Given the description of an element on the screen output the (x, y) to click on. 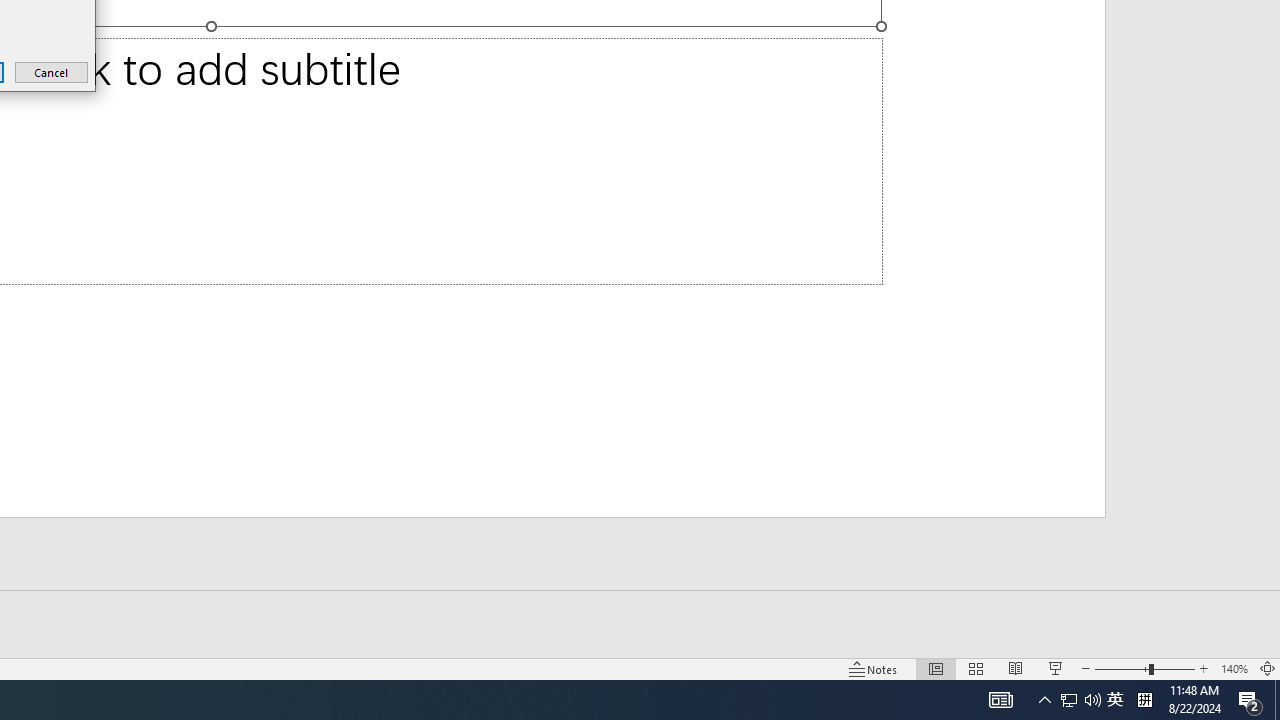
Zoom 140% (1234, 668)
